Given the description of an element on the screen output the (x, y) to click on. 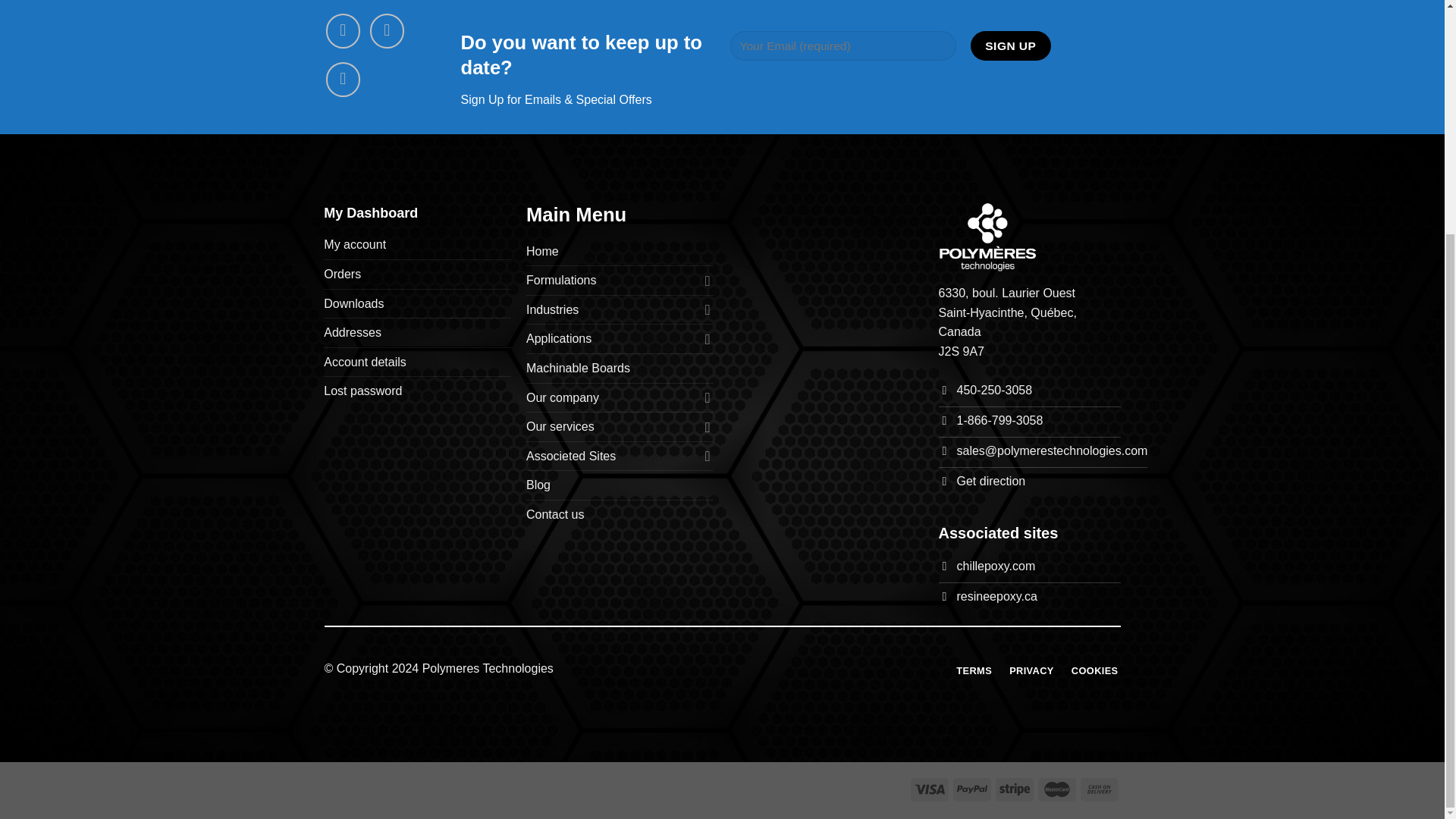
Follow on Facebook (343, 30)
Follow on YouTube (343, 79)
Sign Up (1011, 45)
Follow on Instagram (386, 30)
